Given the description of an element on the screen output the (x, y) to click on. 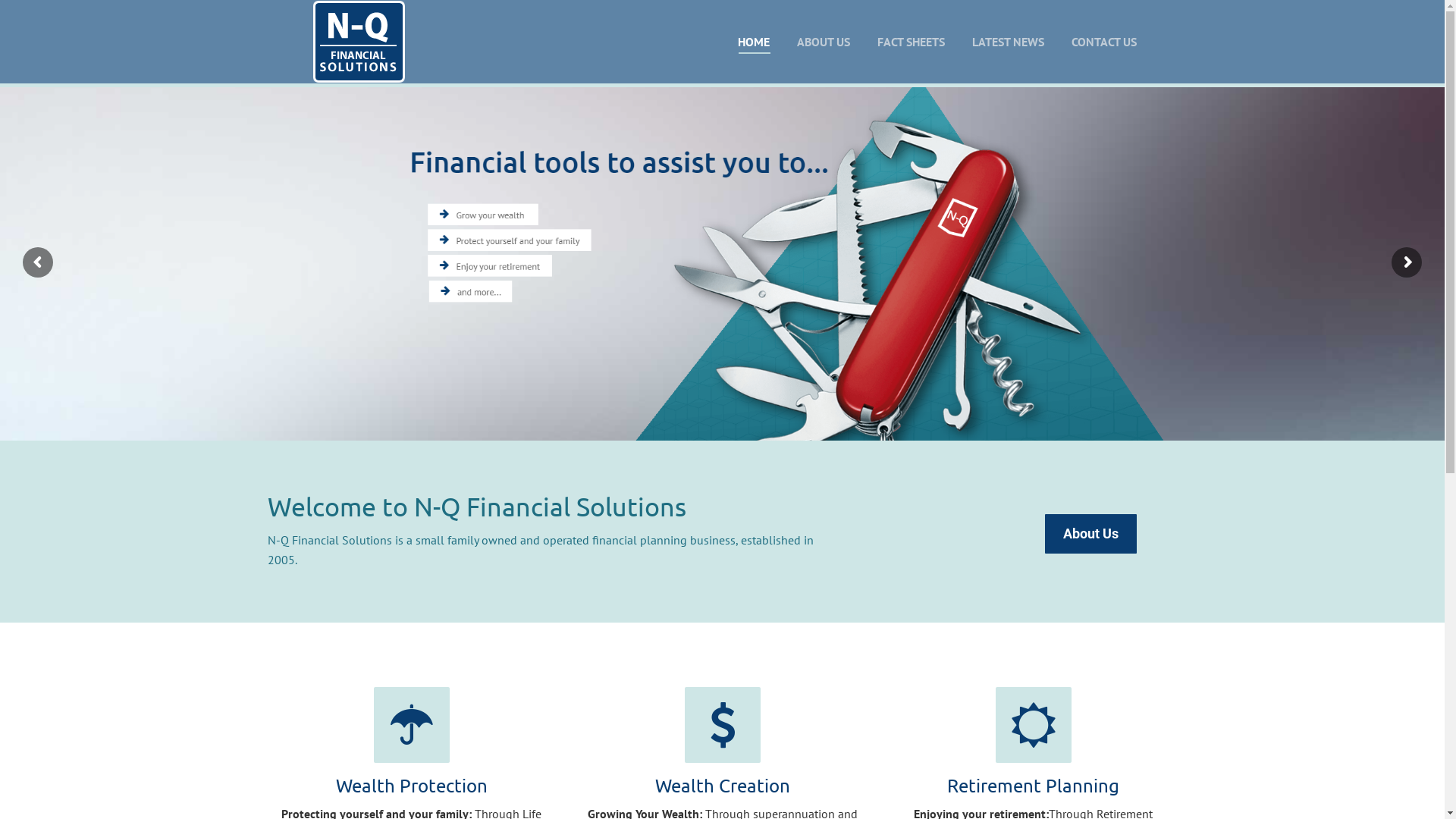
HOME Element type: text (752, 41)
LATEST NEWS Element type: text (1008, 41)
FACT SHEETS Element type: text (910, 41)
ABOUT US Element type: text (822, 41)
CONTACT US Element type: text (1103, 41)
About Us Element type: text (1090, 533)
